Given the description of an element on the screen output the (x, y) to click on. 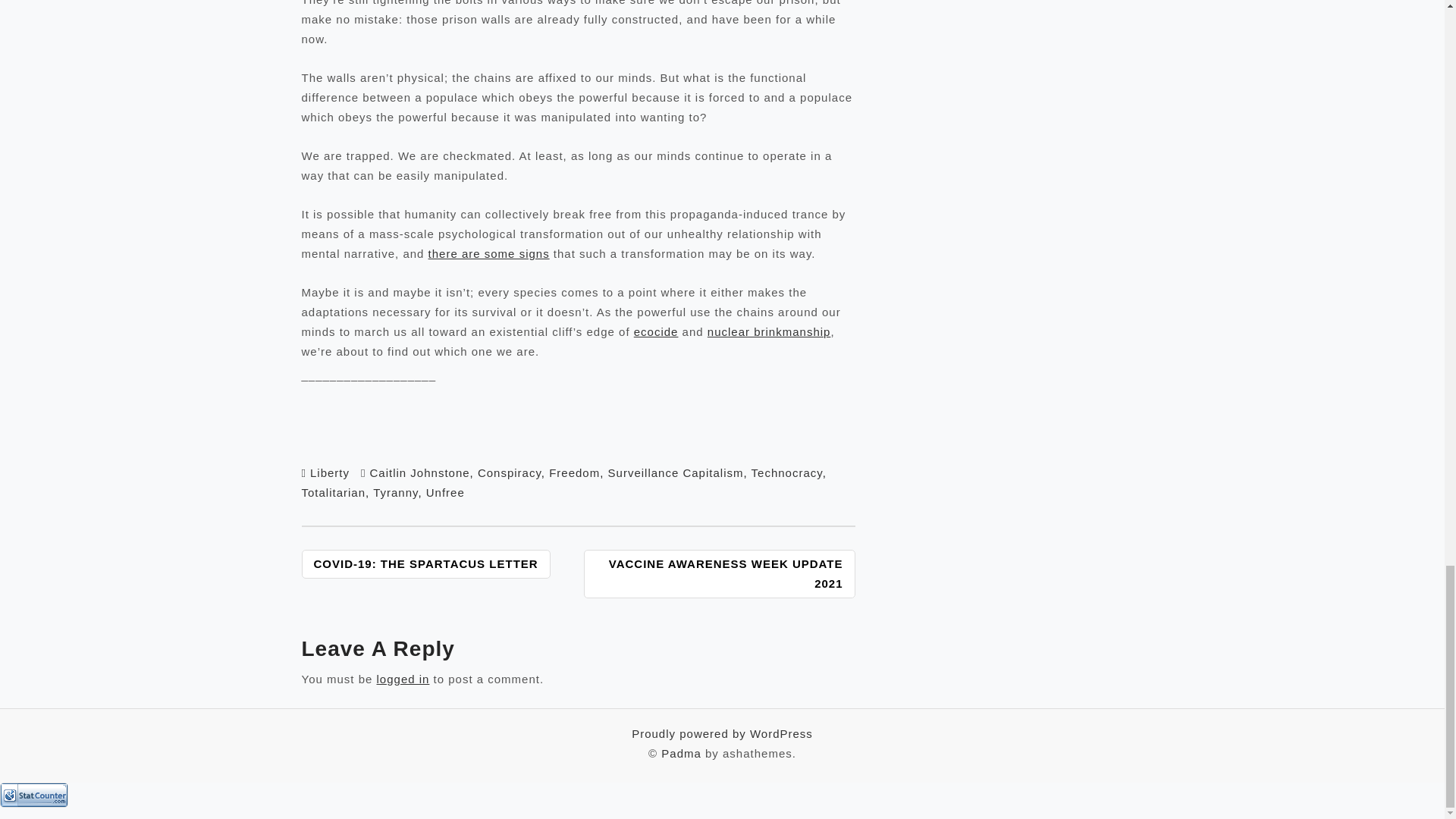
Caitlin Johnstone (419, 472)
there are some signs (489, 253)
ecocide (655, 331)
Liberty (329, 472)
nuclear brinkmanship (769, 331)
Conspiracy (509, 472)
